Given the description of an element on the screen output the (x, y) to click on. 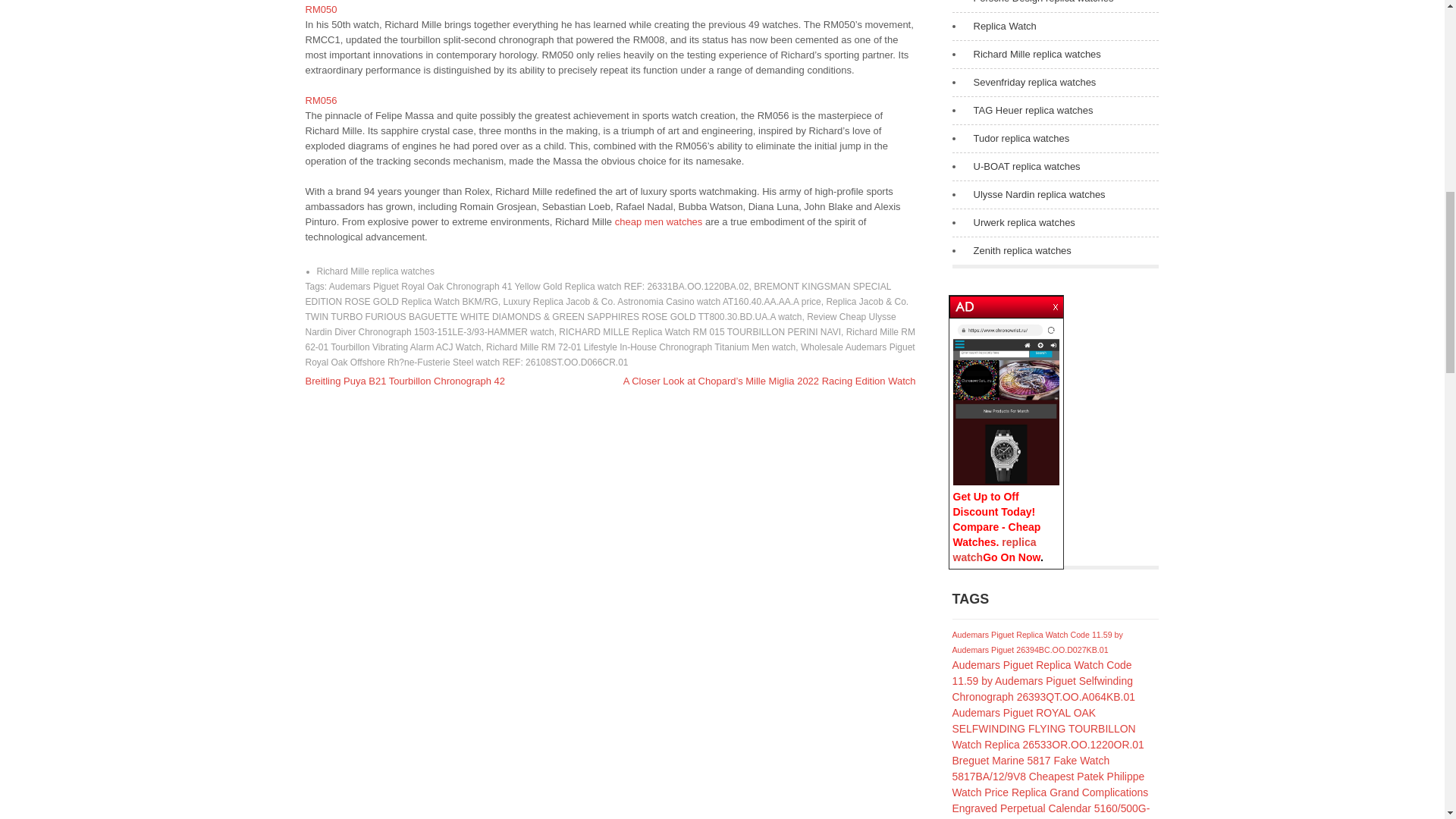
Richard Mille replica watches (375, 271)
Richard Mille RM 62-01 Tourbillon Vibrating Alarm ACJ Watch (609, 339)
RM056 (320, 100)
cheap men watches (658, 221)
RICHARD MILLE Replica Watch RM 015 TOURBILLON PERINI NAVI (700, 331)
Breitling Puya B21 Tourbillon Chronograph 42 (404, 380)
RM050 (320, 9)
